Given the description of an element on the screen output the (x, y) to click on. 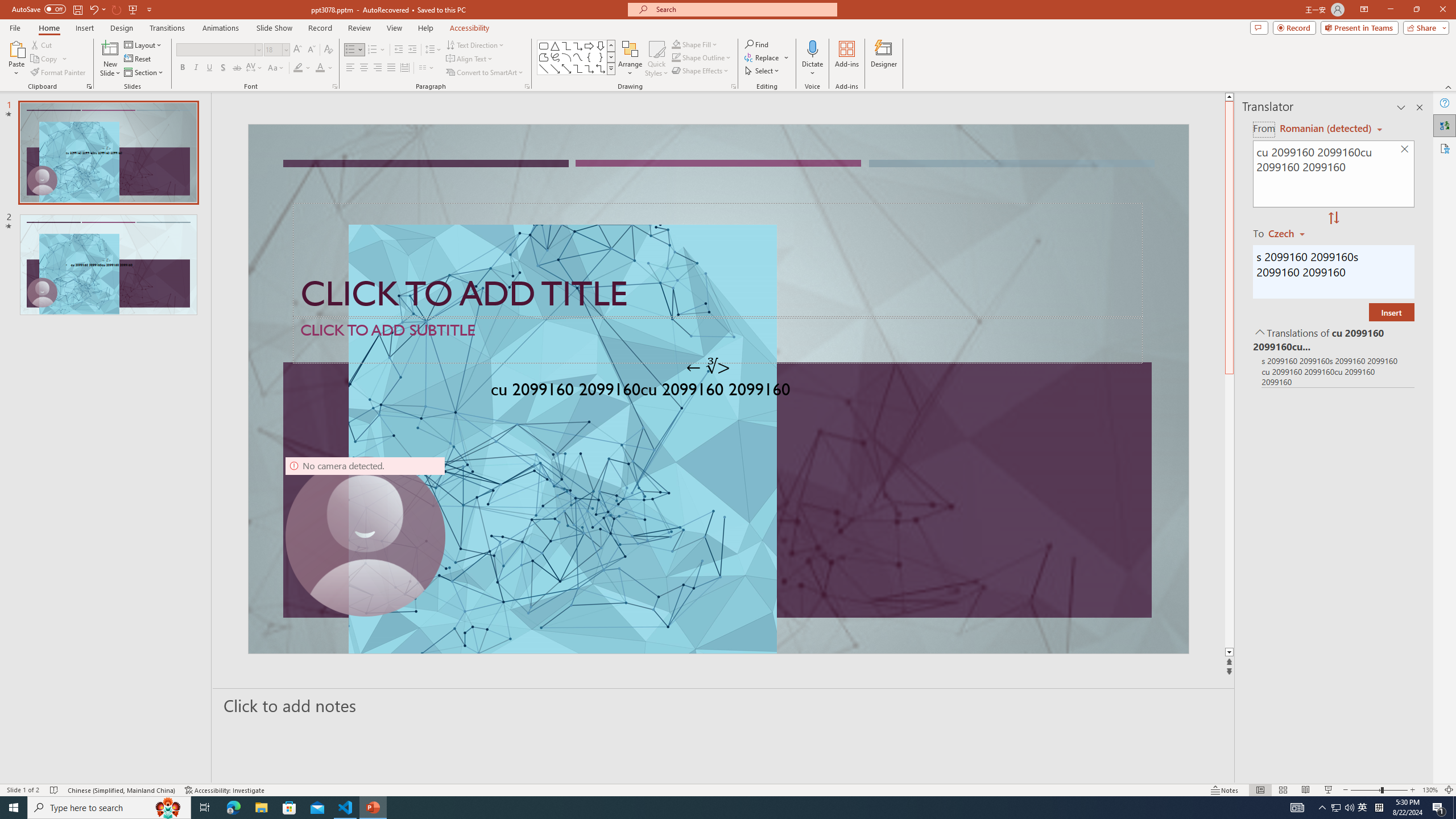
New Slide (110, 48)
Close pane (1419, 107)
Page down (1229, 511)
Font Size (276, 49)
Numbering (376, 49)
Character Spacing (254, 67)
Accessibility Checker Accessibility: Investigate (224, 790)
Format Painter (58, 72)
Connector: Elbow (577, 68)
Zoom 130% (1430, 790)
Bullets (354, 49)
